Given the description of an element on the screen output the (x, y) to click on. 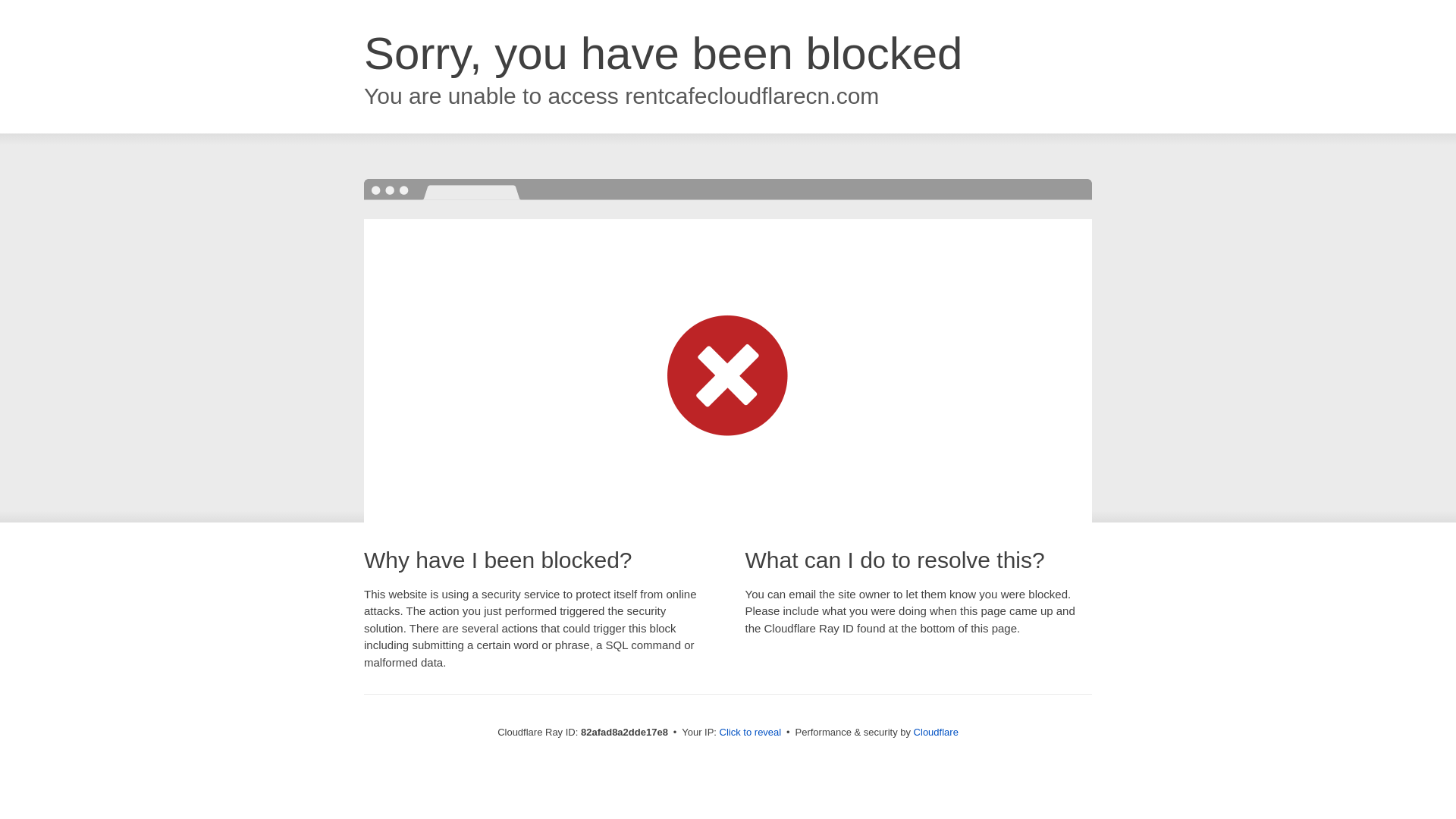
Click to reveal Element type: text (750, 732)
Cloudflare Element type: text (935, 731)
